Given the description of an element on the screen output the (x, y) to click on. 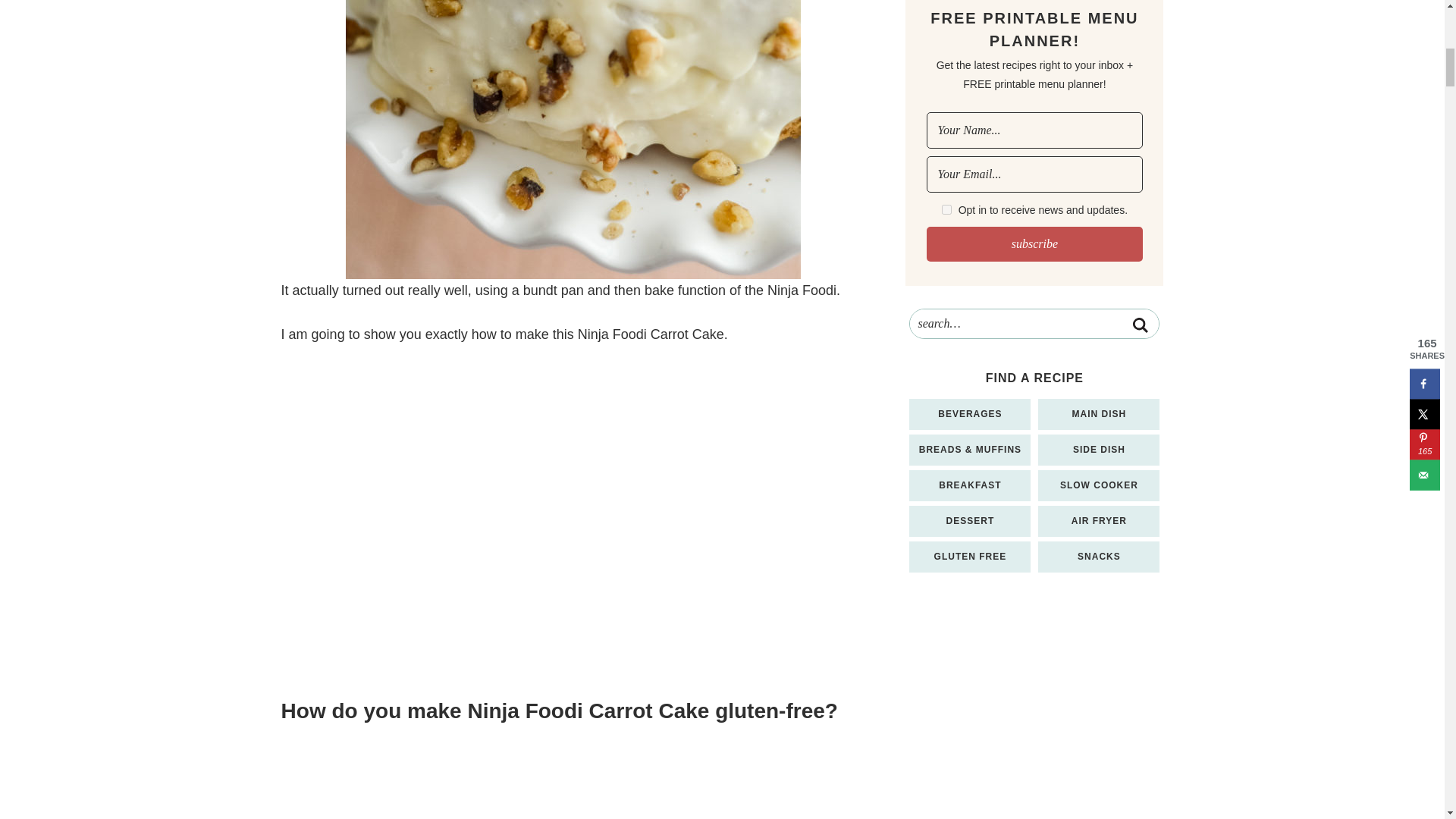
on (947, 209)
Search for (1034, 323)
